Given the description of an element on the screen output the (x, y) to click on. 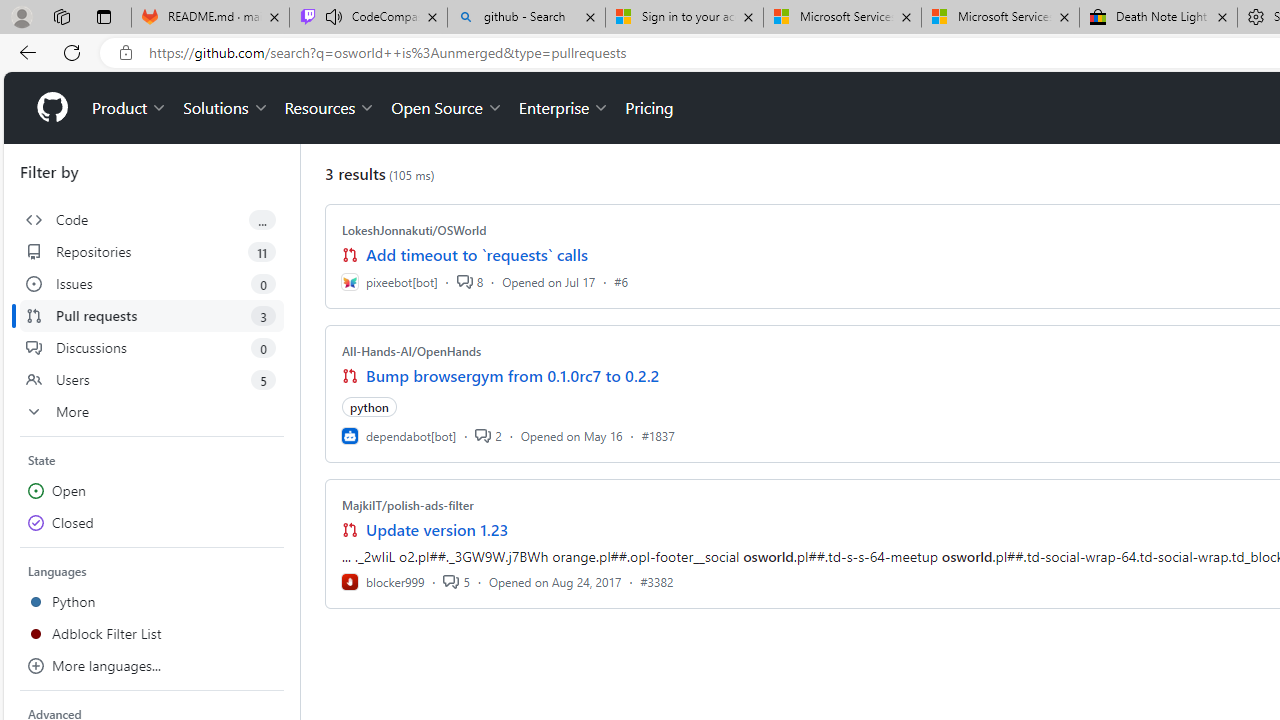
More languages... (152, 665)
#3382 (657, 581)
github - Search (526, 17)
Enterprise (563, 107)
#1837 (657, 435)
